Given the description of an element on the screen output the (x, y) to click on. 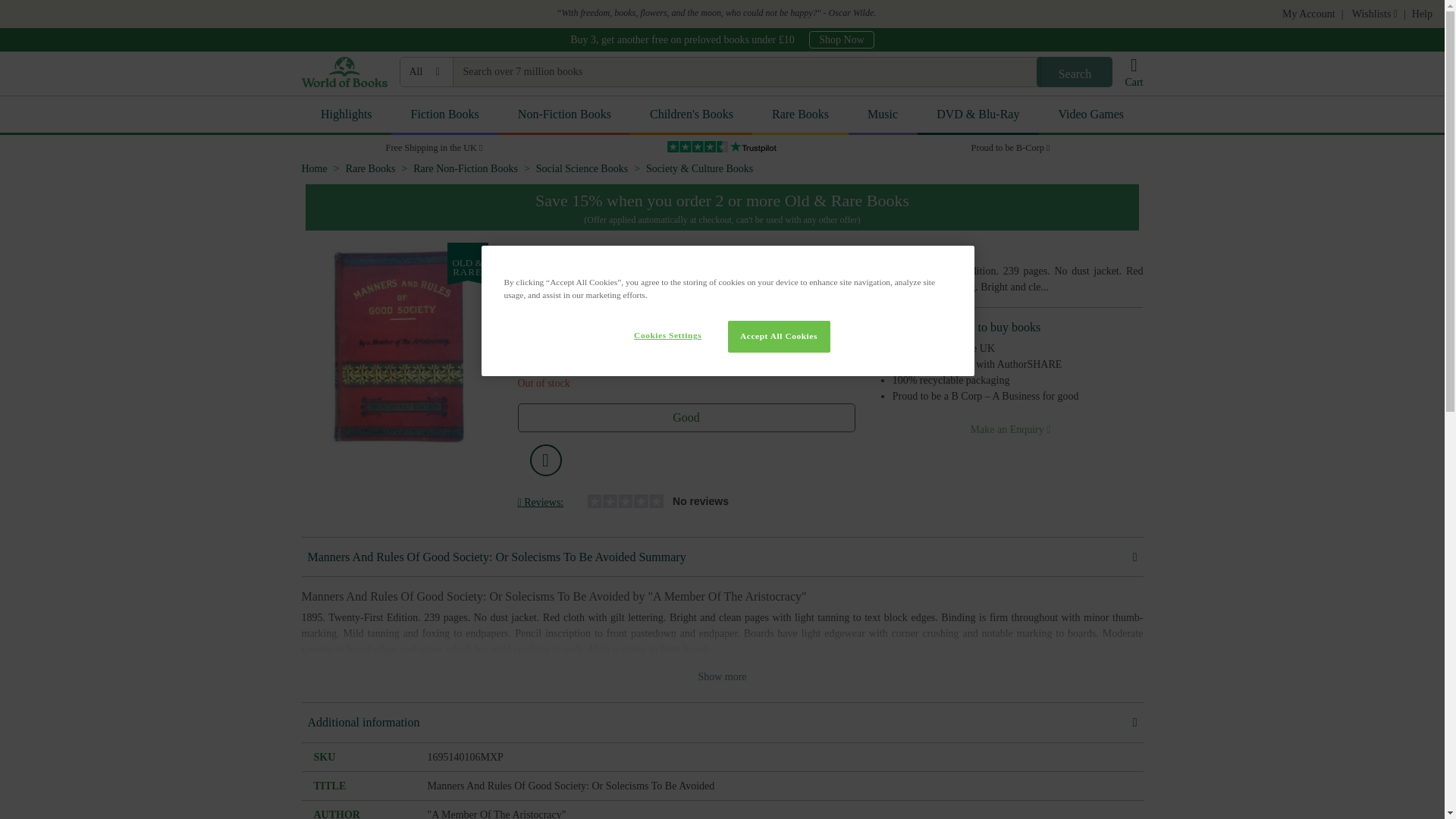
Search (1074, 71)
Rare Books (799, 115)
Rare Books (371, 168)
Show more (721, 676)
Reviews: (539, 503)
Shop Now (842, 39)
Rare Non-Fiction Books (465, 168)
Make an Enquiry (1009, 429)
Good (685, 417)
Home (314, 168)
Children's Books (691, 115)
Fiction Books (444, 115)
Music (882, 115)
Video Games (1090, 115)
Non-Fiction Books (563, 115)
